Given the description of an element on the screen output the (x, y) to click on. 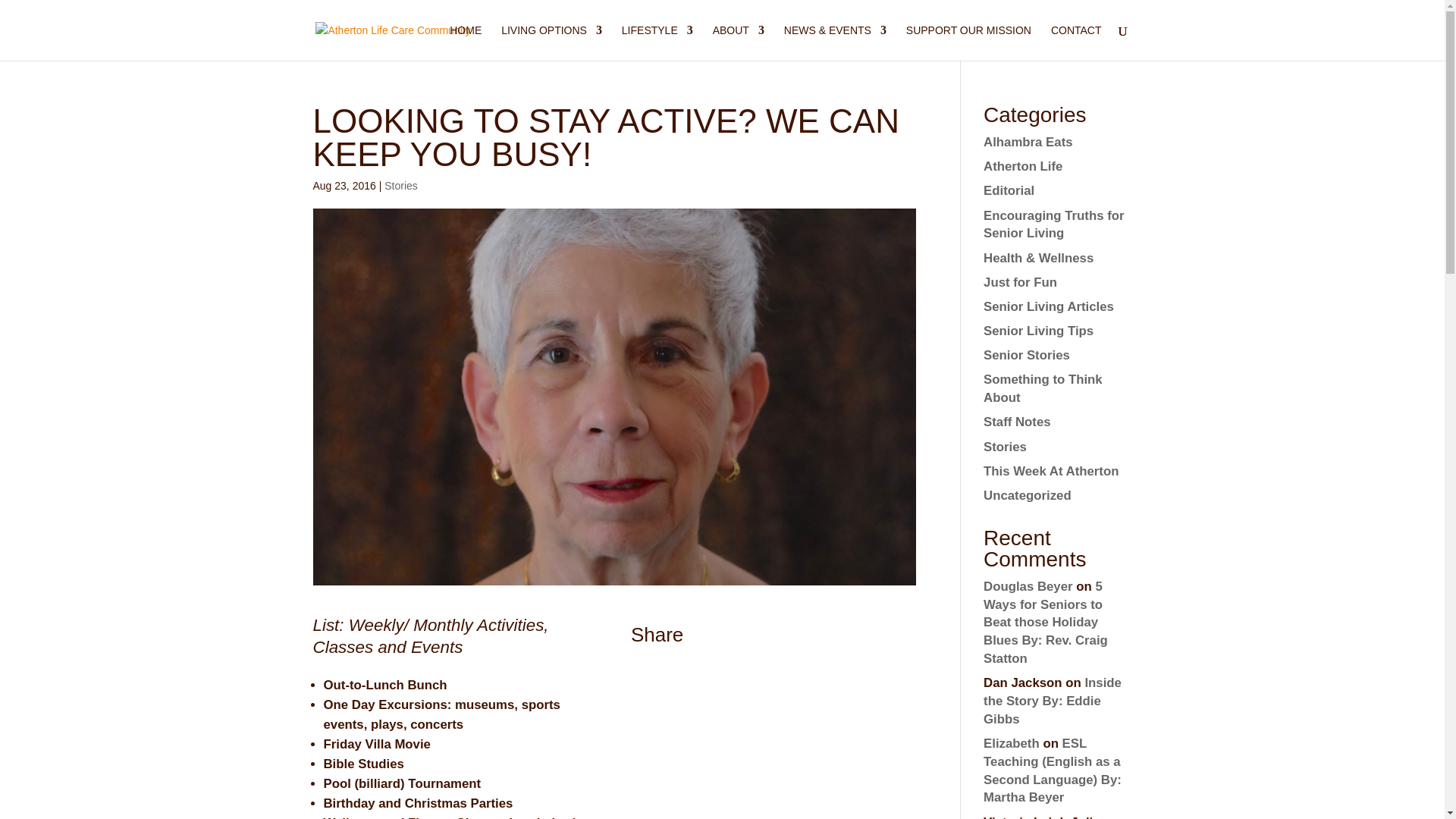
CONTACT (1076, 42)
LIFESTYLE (657, 42)
Stories (400, 185)
SUPPORT OUR MISSION (967, 42)
Alhambra Eats (1028, 142)
Encouraging Truths for Senior Living (1054, 224)
Editorial (1008, 190)
Atherton Life (1023, 165)
ABOUT (738, 42)
LIVING OPTIONS (551, 42)
HOME (465, 42)
